Given the description of an element on the screen output the (x, y) to click on. 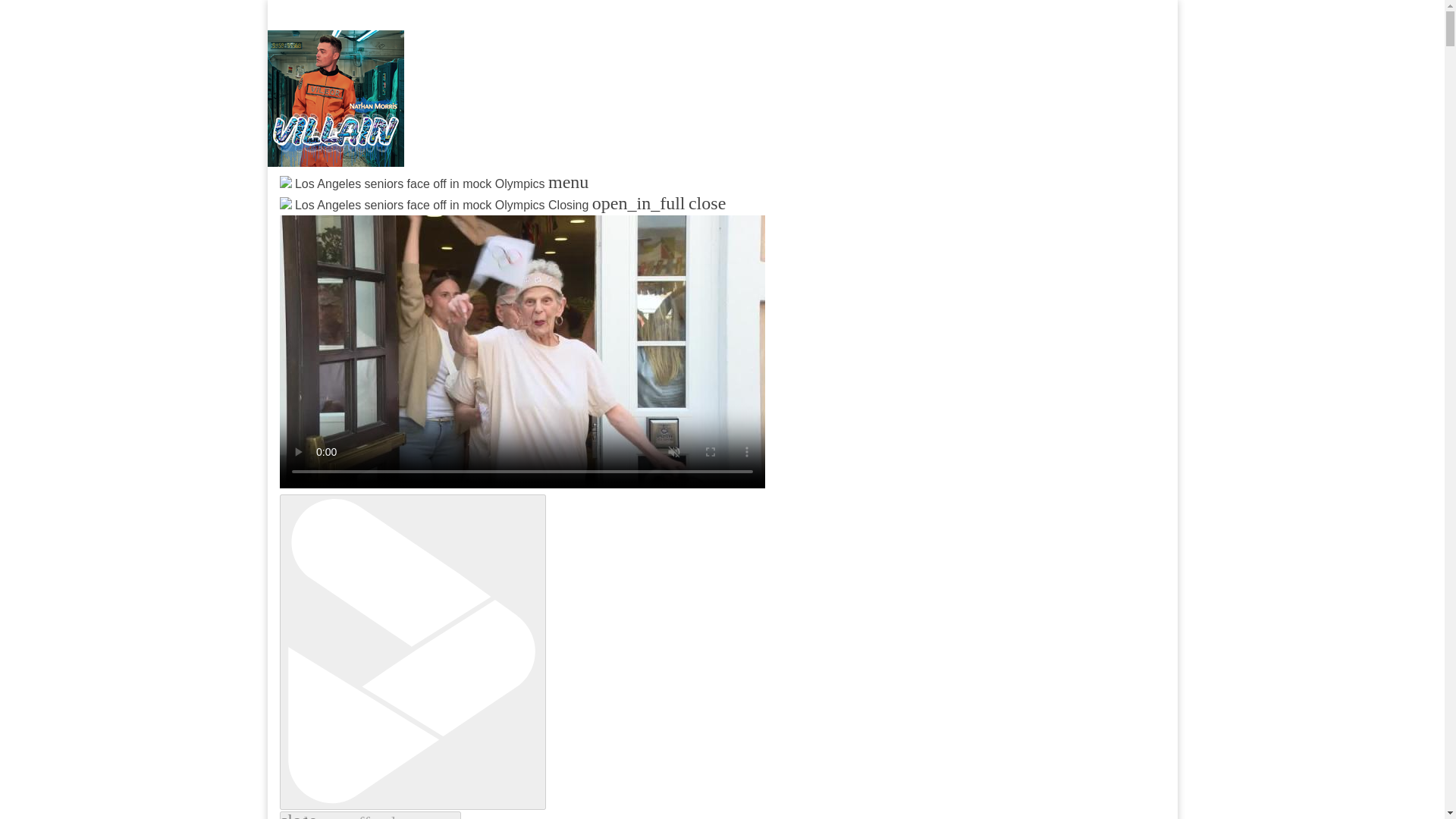
Skope Entertainment Inc (462, 220)
Skope Entertainment Inc (462, 220)
